Given the description of an element on the screen output the (x, y) to click on. 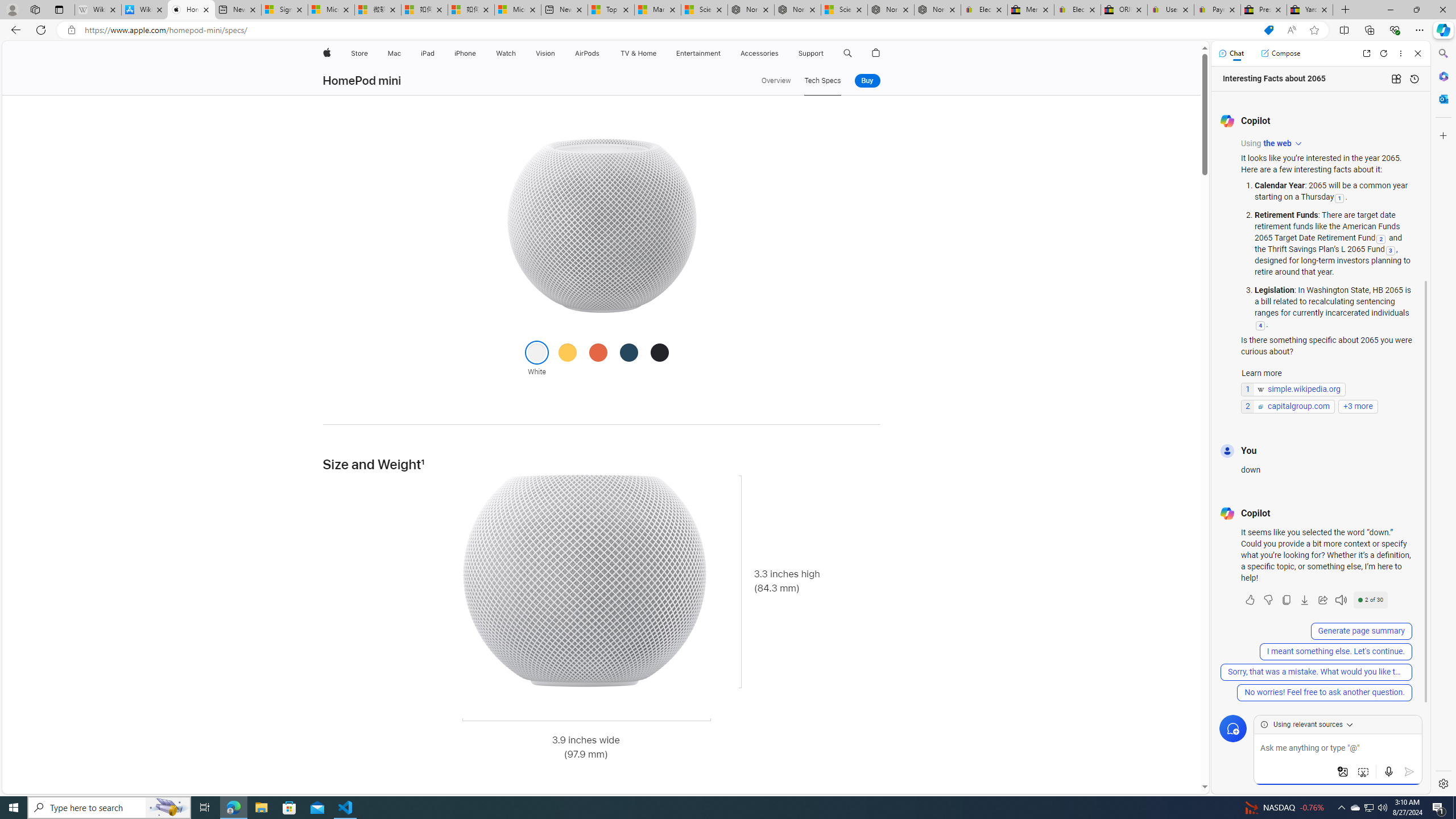
Overview (775, 80)
Tech Specs (822, 80)
Footnote 1 (422, 464)
iPhone (464, 53)
TV and Home (637, 53)
TV and Home menu (658, 53)
TV & Home (637, 53)
